Given the description of an element on the screen output the (x, y) to click on. 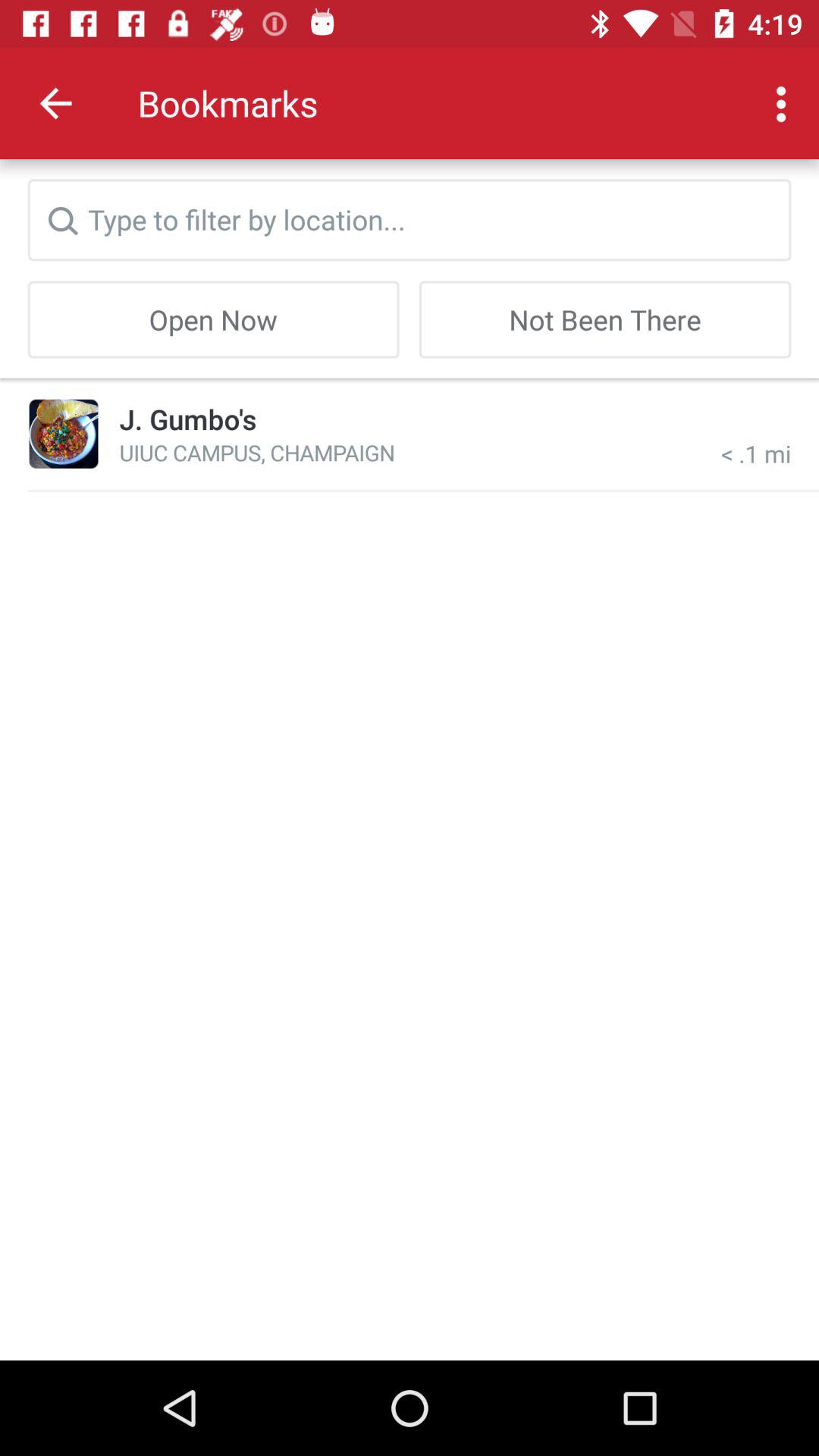
press the item next to j. gumbo's icon (63, 433)
